Given the description of an element on the screen output the (x, y) to click on. 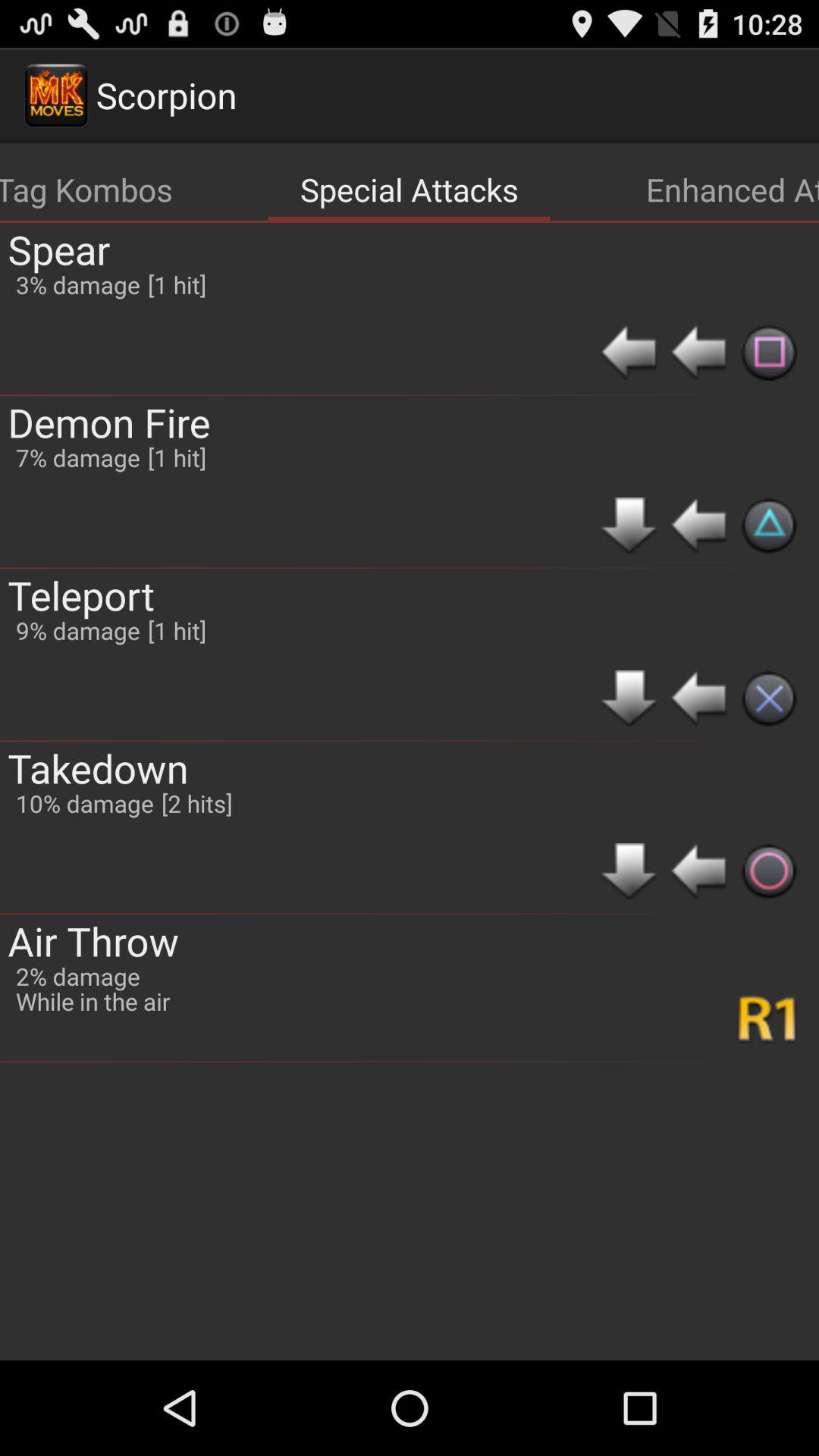
select app below 10% damage (93, 940)
